Given the description of an element on the screen output the (x, y) to click on. 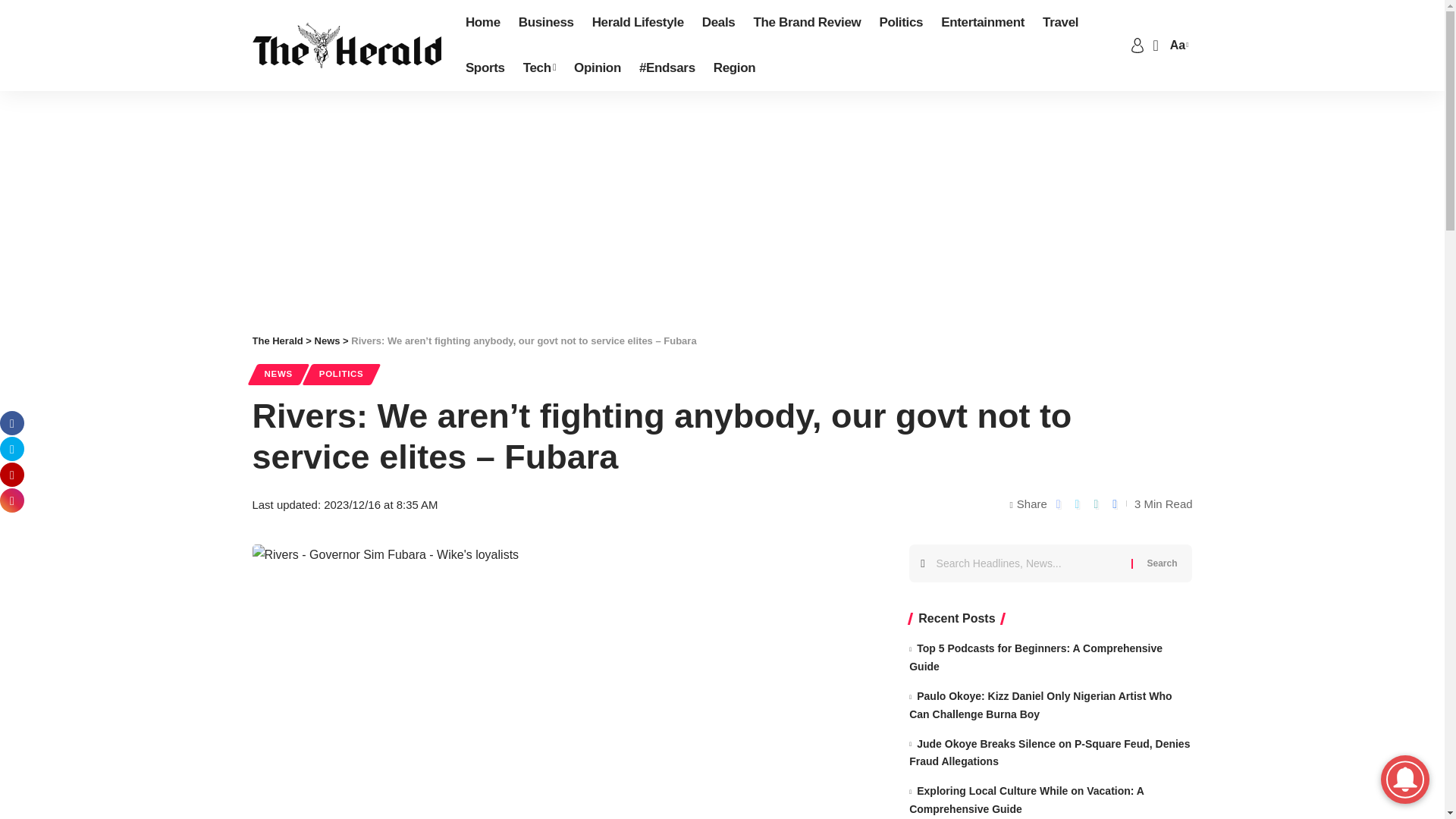
Herald Lifestyle (638, 22)
Search (1161, 563)
Entertainment (982, 22)
Travel (1060, 22)
Region (734, 67)
Deals (718, 22)
The Brand Review (806, 22)
The Herald (346, 44)
Tech (538, 67)
Opinion (597, 67)
